Given the description of an element on the screen output the (x, y) to click on. 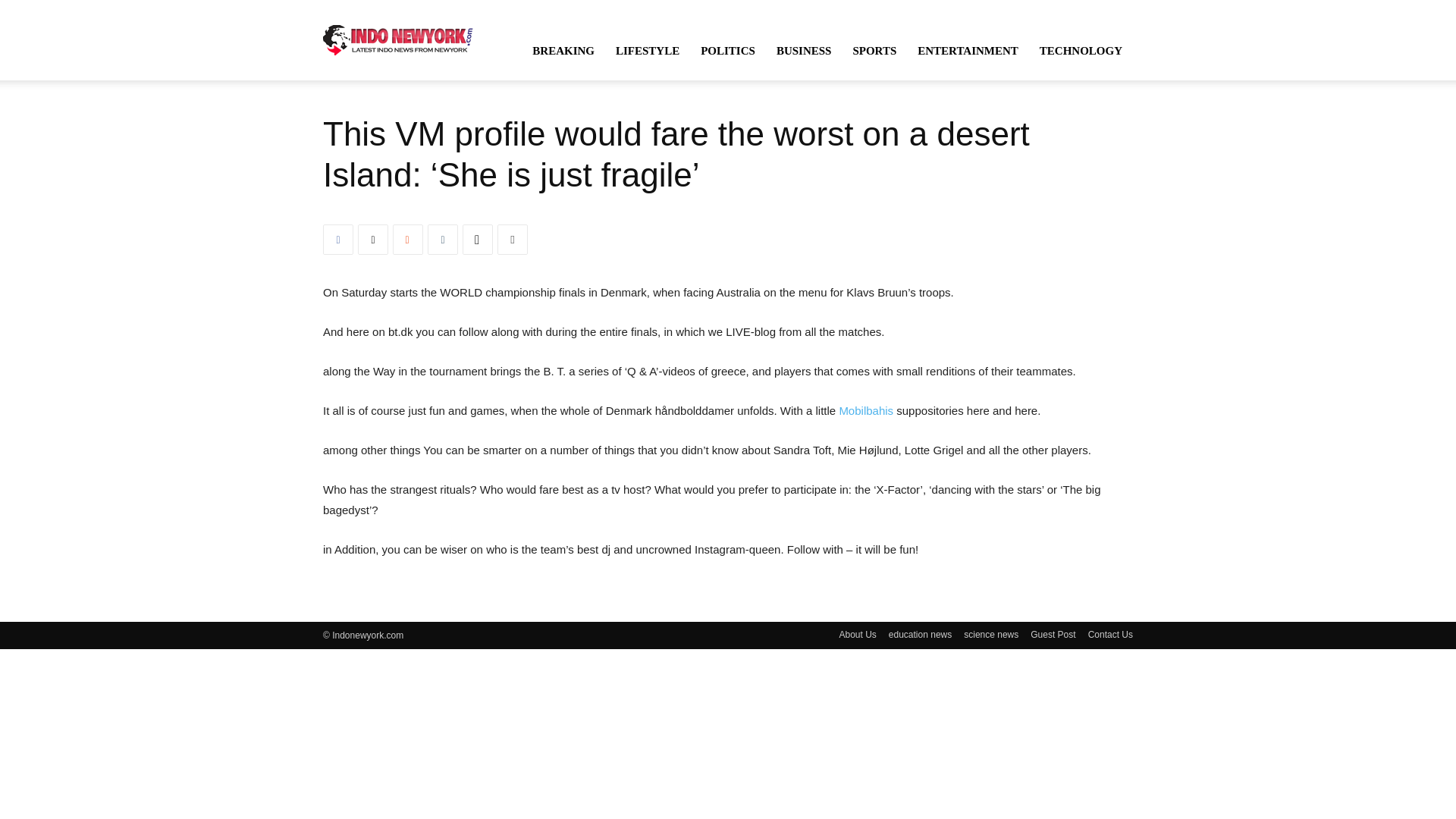
ENTERTAINMENT (968, 50)
Print (512, 239)
TECHNOLOGY (1080, 50)
Twitter (373, 239)
Guest Post (1052, 634)
LIFESTYLE (647, 50)
Mix (408, 239)
education news (920, 634)
science news (990, 634)
Facebook (338, 239)
